Given the description of an element on the screen output the (x, y) to click on. 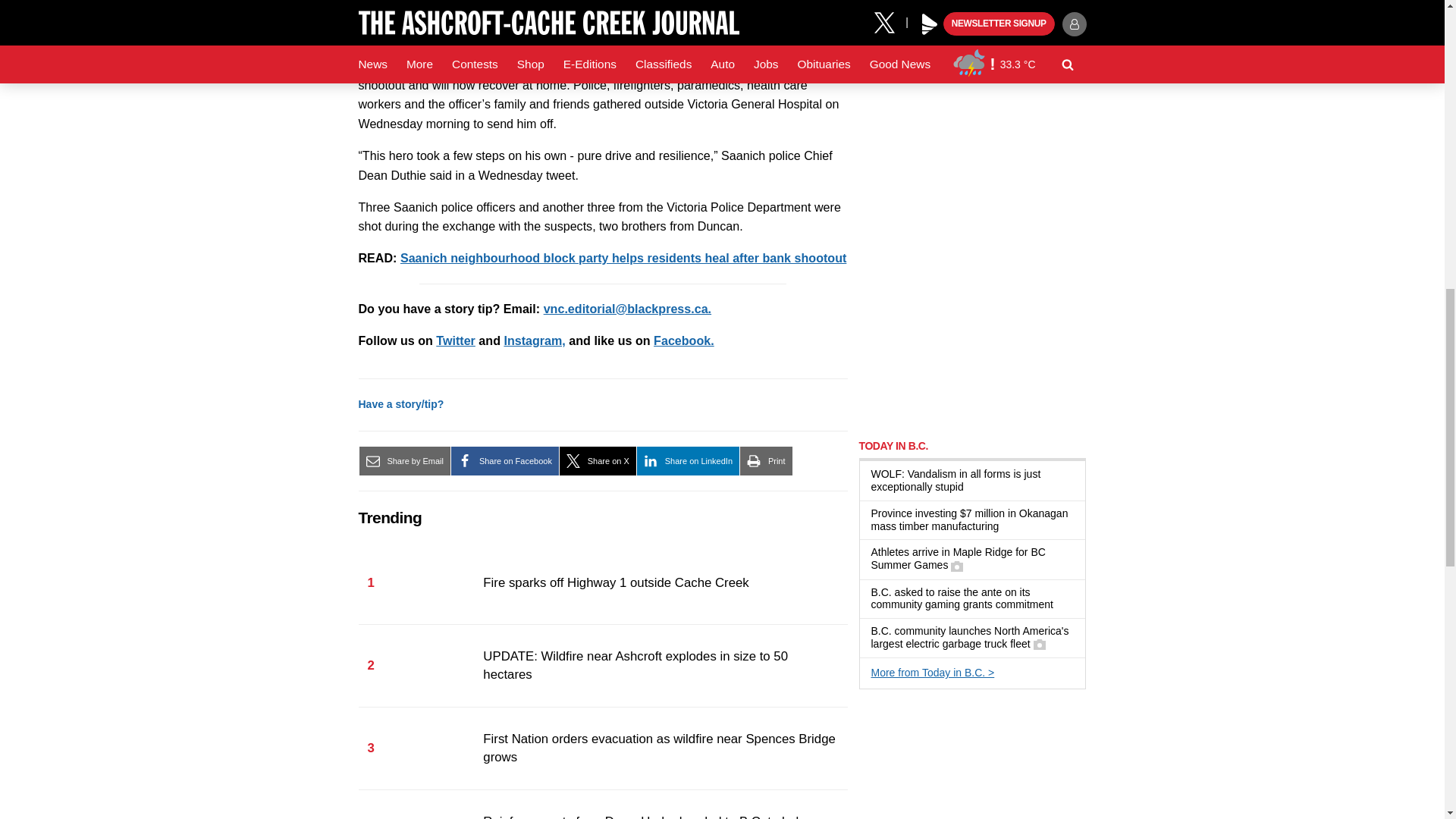
Has a gallery (1038, 644)
Has a gallery (956, 566)
